Given the description of an element on the screen output the (x, y) to click on. 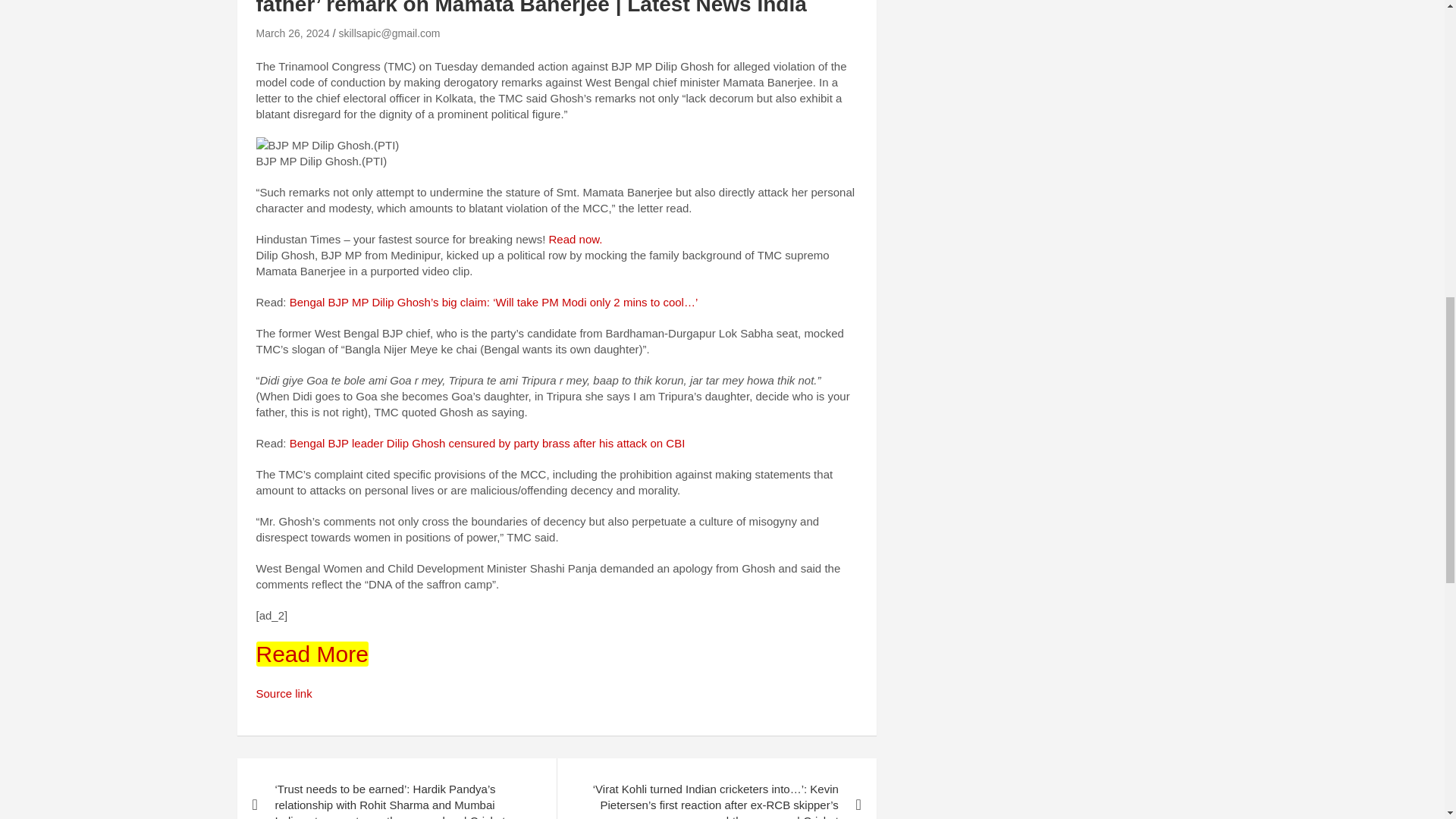
Read now. (575, 238)
Read More (312, 653)
Source link (284, 693)
March 26, 2024 (293, 33)
